Given the description of an element on the screen output the (x, y) to click on. 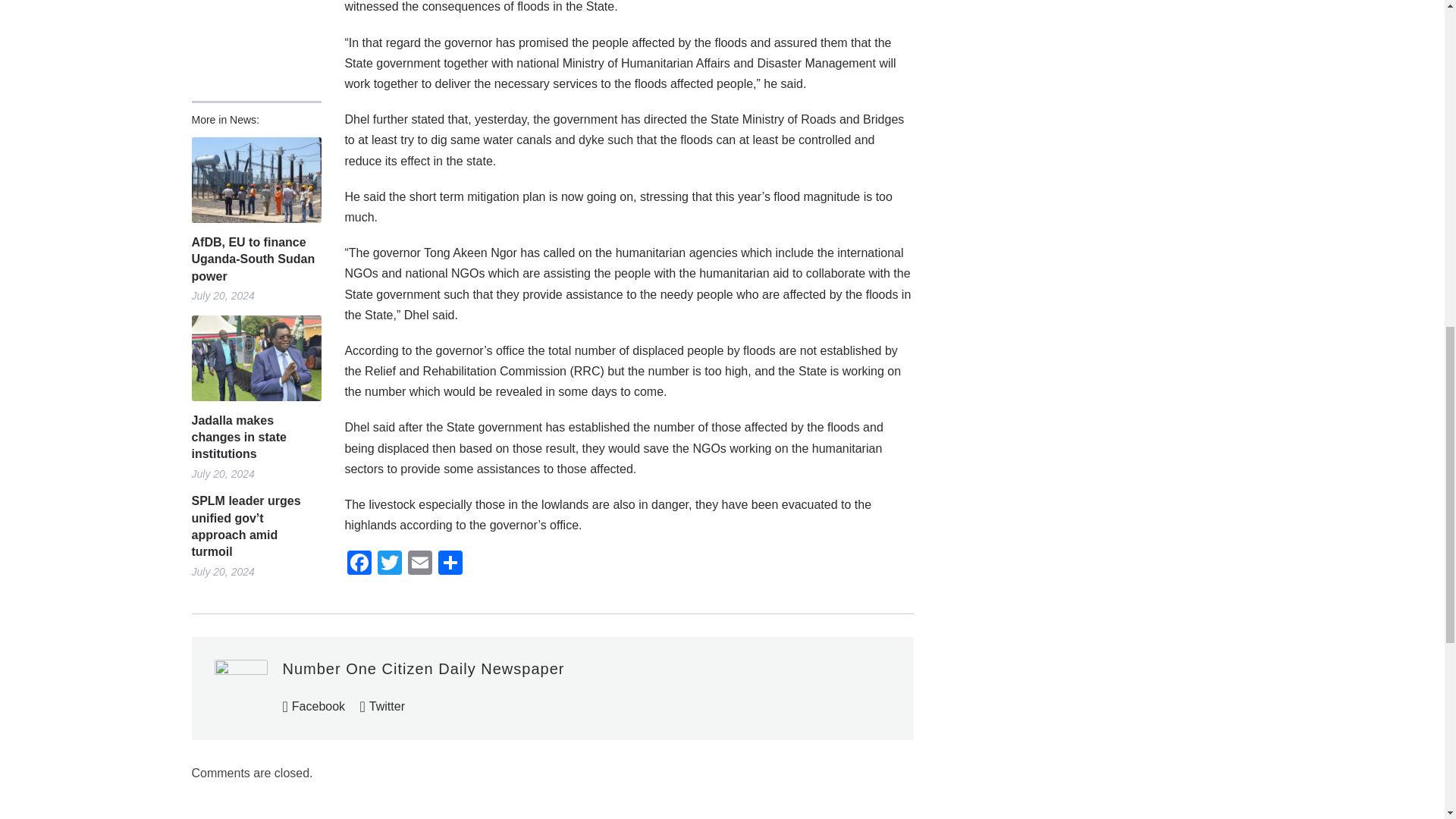
Permalink to Jadalla makes changes in state institutions (255, 358)
Permalink to AfDB, EU to finance Uganda-South Sudan power (255, 259)
Permalink to AfDB, EU to finance Uganda-South Sudan power (255, 179)
Permalink to Jadalla makes changes in state institutions (255, 437)
